Given the description of an element on the screen output the (x, y) to click on. 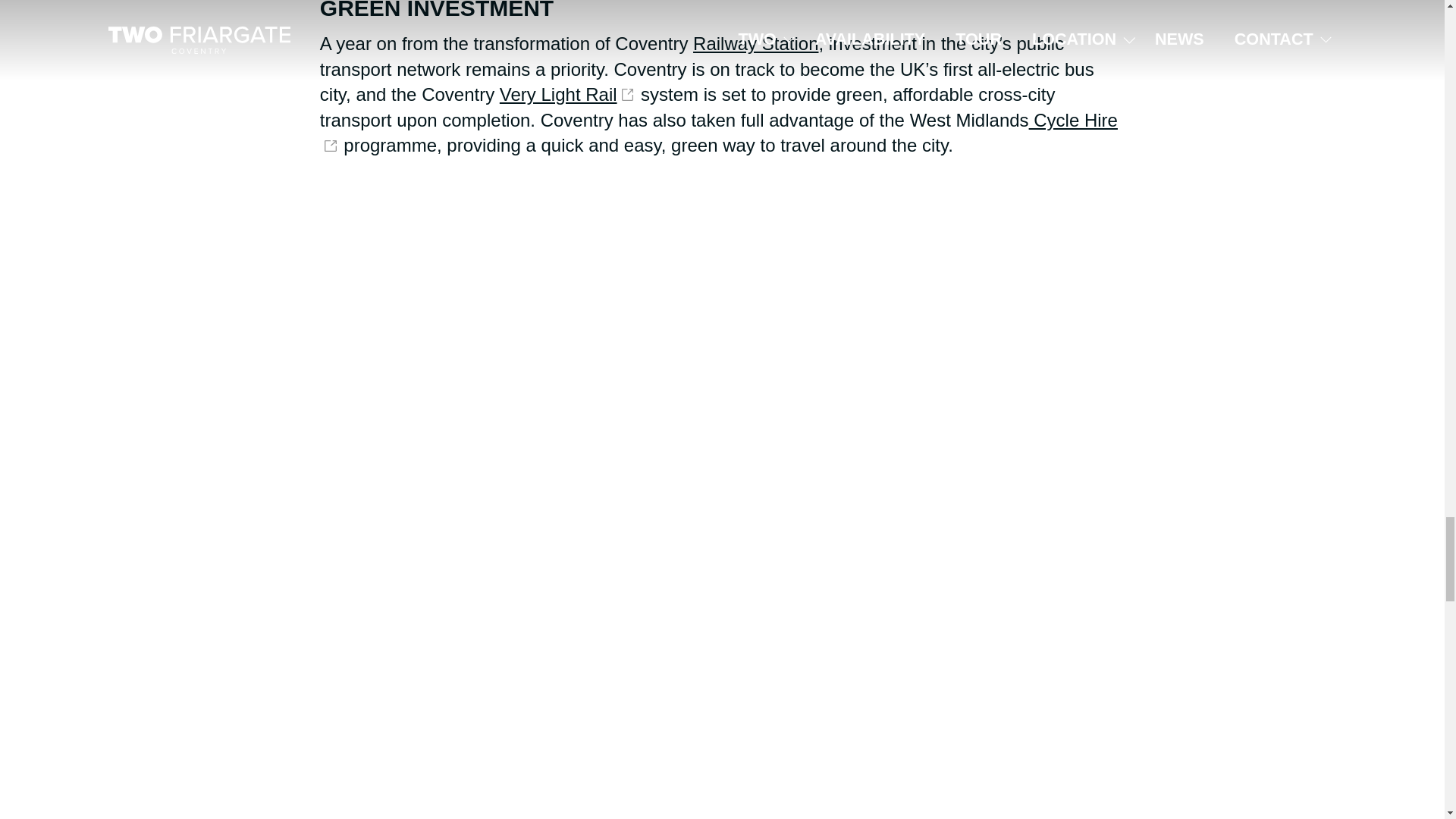
Railway Station (755, 43)
Very Light Rail (567, 94)
Cycle Hire (719, 132)
